Given the description of an element on the screen output the (x, y) to click on. 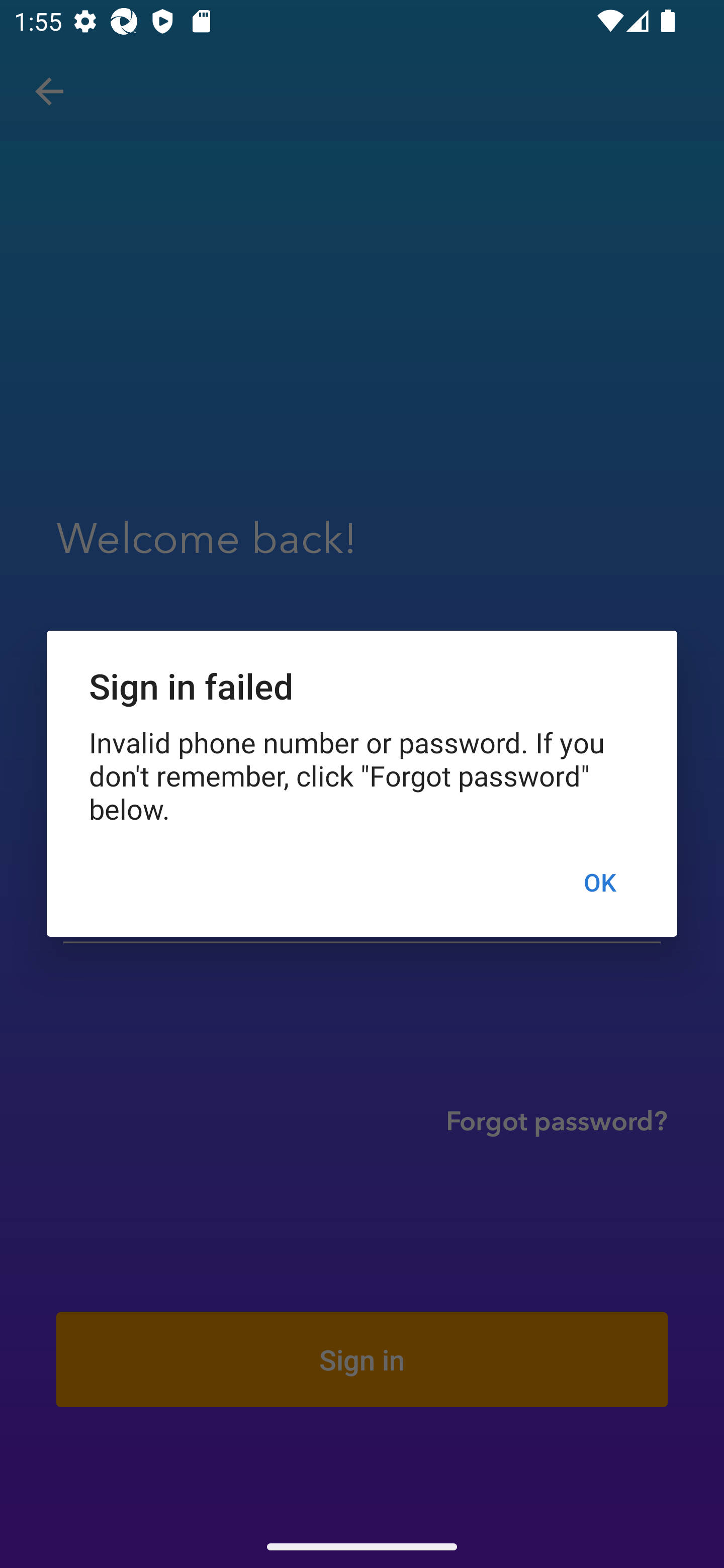
OK (599, 881)
